Given the description of an element on the screen output the (x, y) to click on. 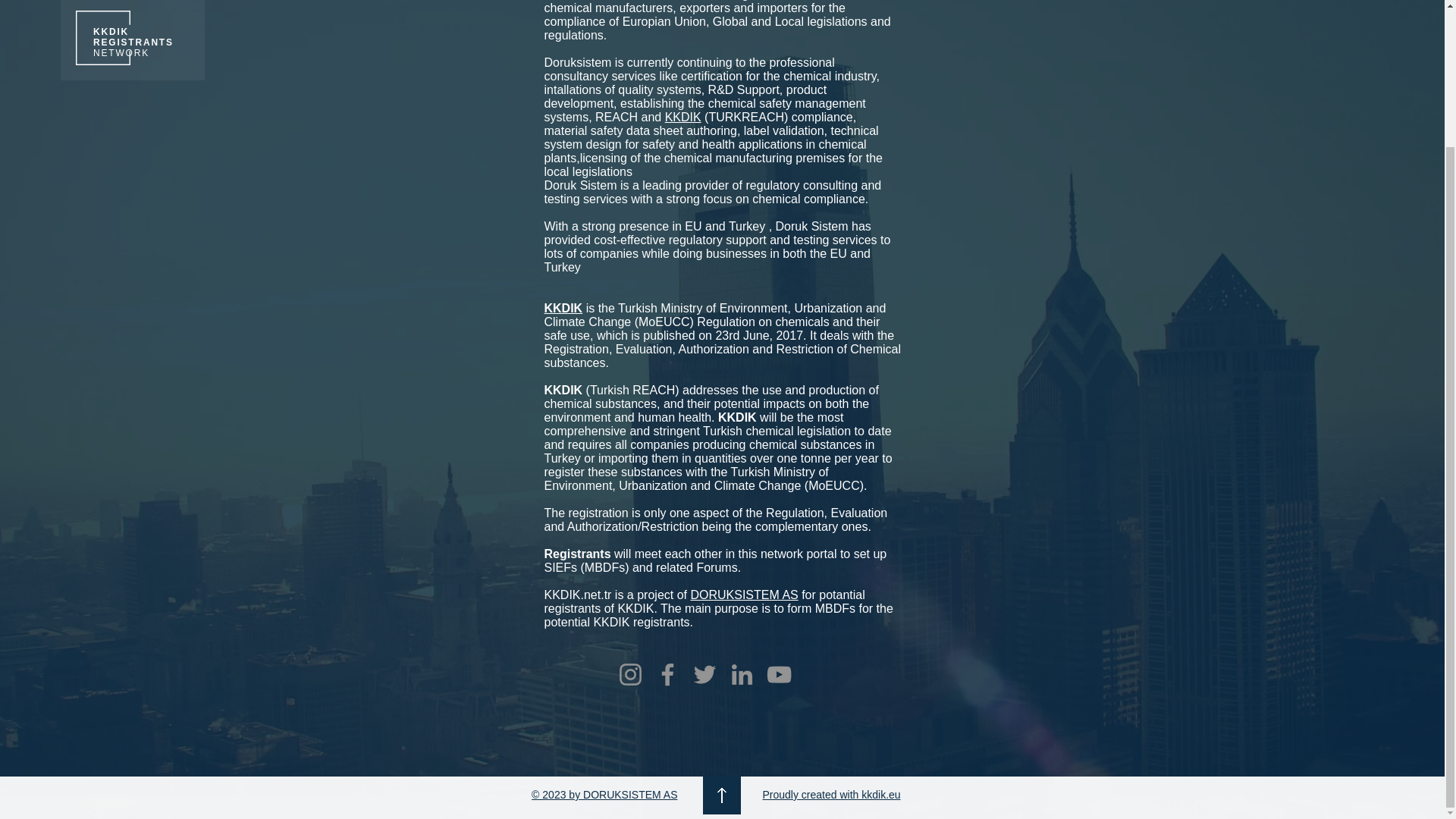
Proudly created with kkdik.eu (831, 794)
DORUKSISTEM AS (743, 594)
KKDIK (563, 308)
KKDIK (683, 116)
